Given the description of an element on the screen output the (x, y) to click on. 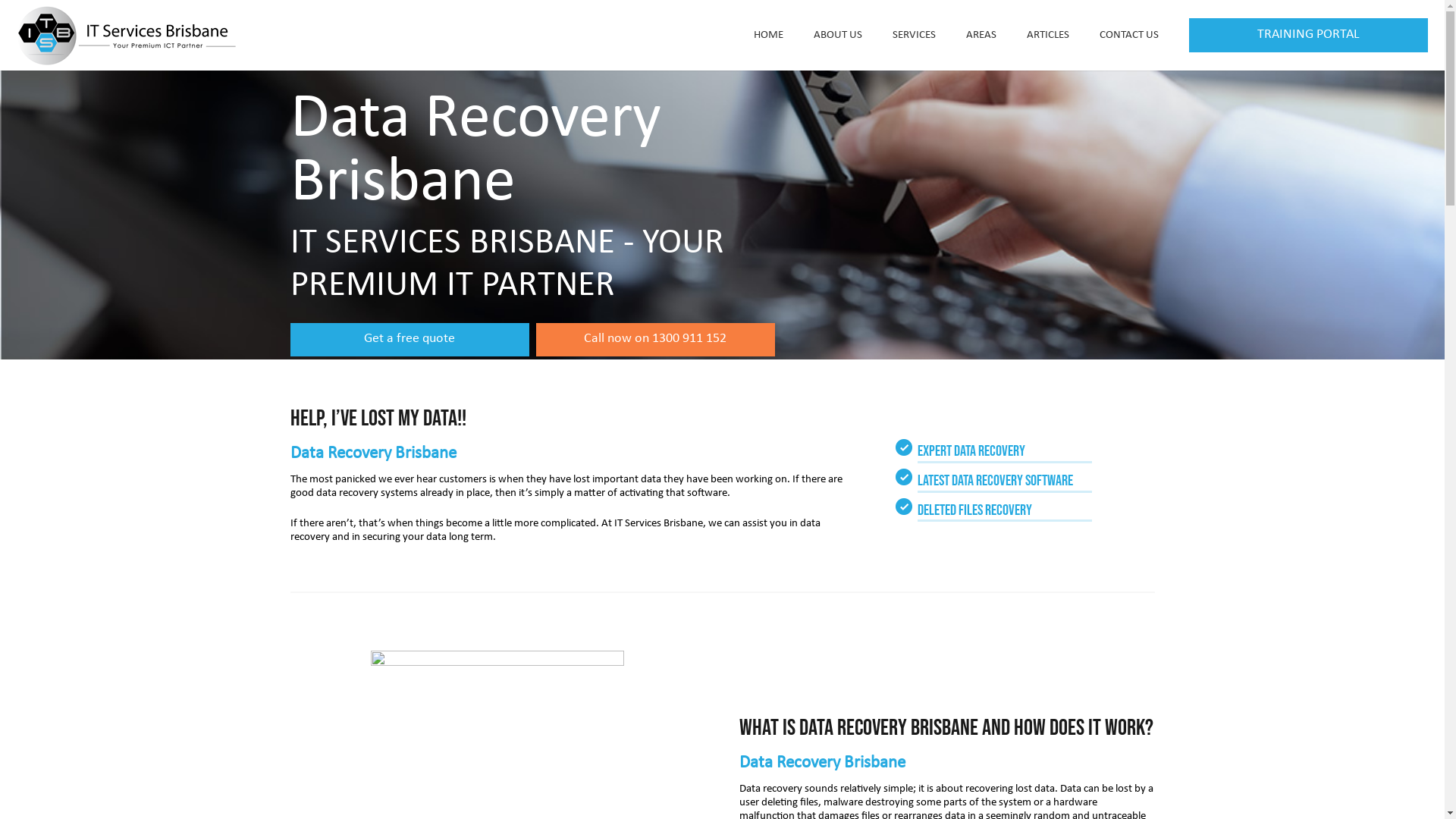
CONTACT US Element type: text (1128, 35)
Get a free quote Element type: text (408, 339)
ARTICLES Element type: text (1047, 35)
Call now on 1300 911 152 Element type: text (654, 339)
malware destroying some parts of the system Element type: text (927, 802)
TRAINING PORTAL Element type: text (1308, 34)
HOME Element type: text (768, 35)
ABOUT US Element type: text (836, 35)
SERVICES Element type: text (913, 35)
IT Services Brisbane Element type: text (658, 523)
AREAS Element type: text (980, 35)
